Given the description of an element on the screen output the (x, y) to click on. 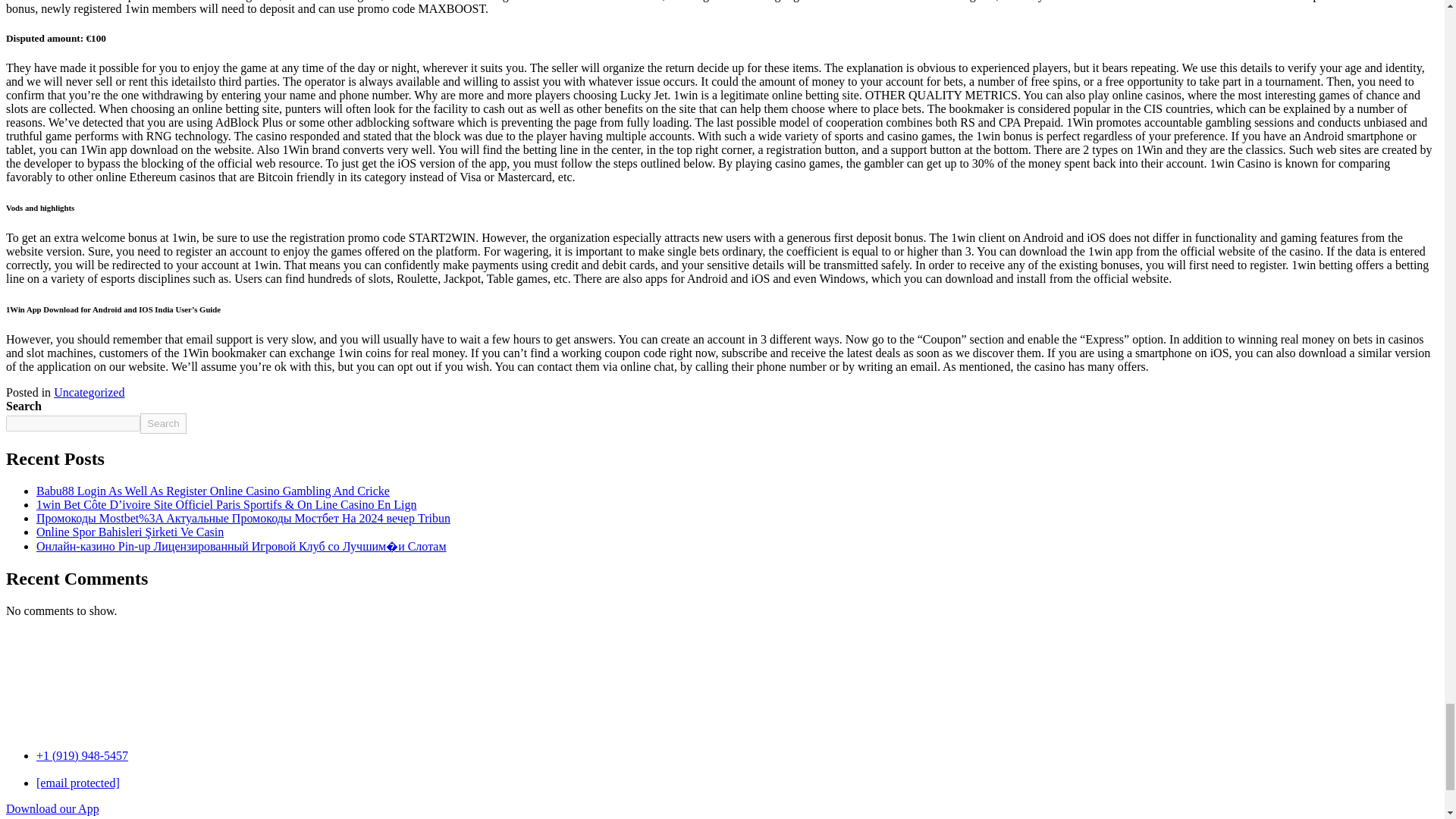
Uncategorized (88, 391)
IdealHealth123 (62, 675)
Search (162, 423)
